Given the description of an element on the screen output the (x, y) to click on. 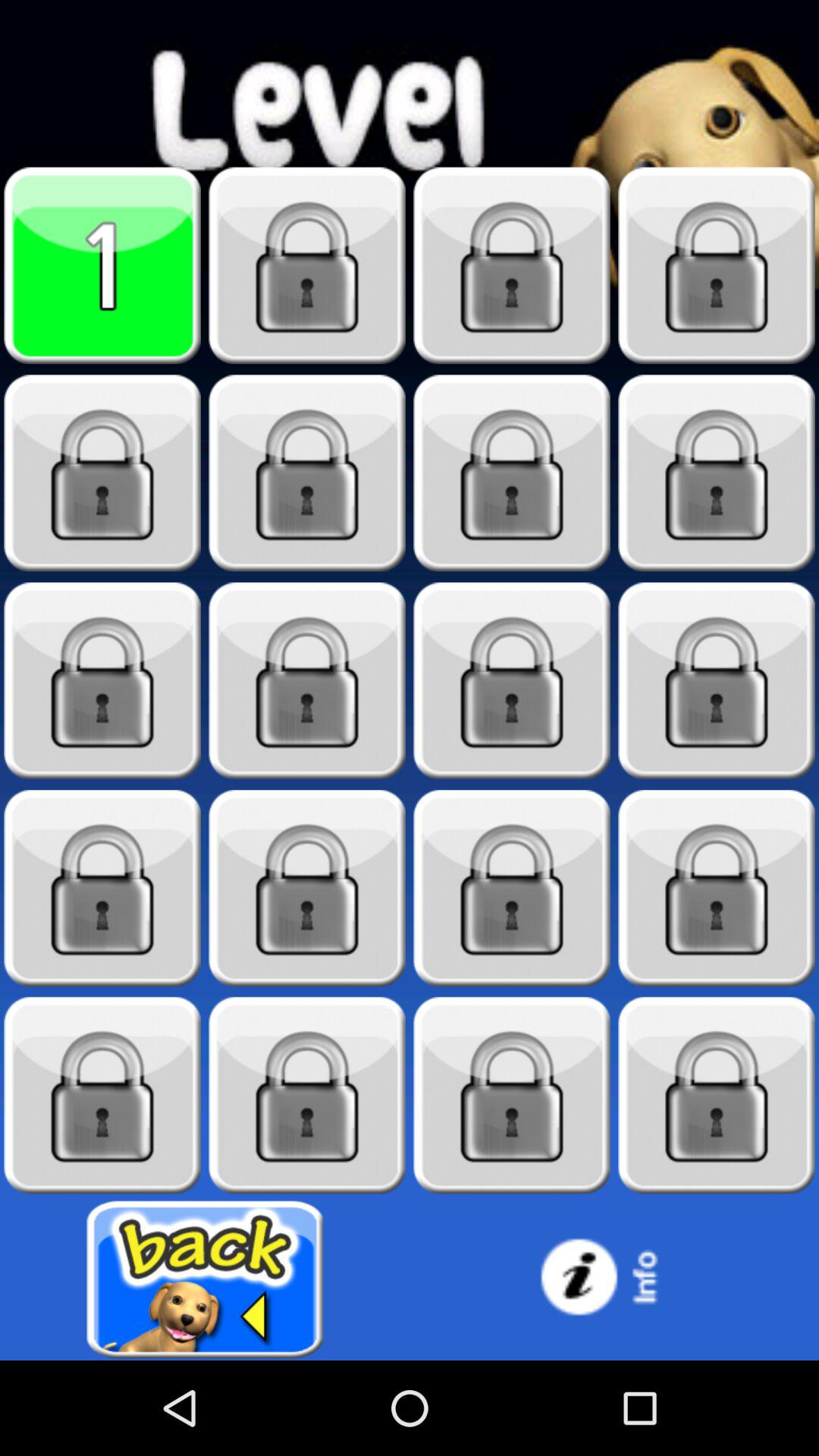
select level 12 currently locked (716, 680)
